Given the description of an element on the screen output the (x, y) to click on. 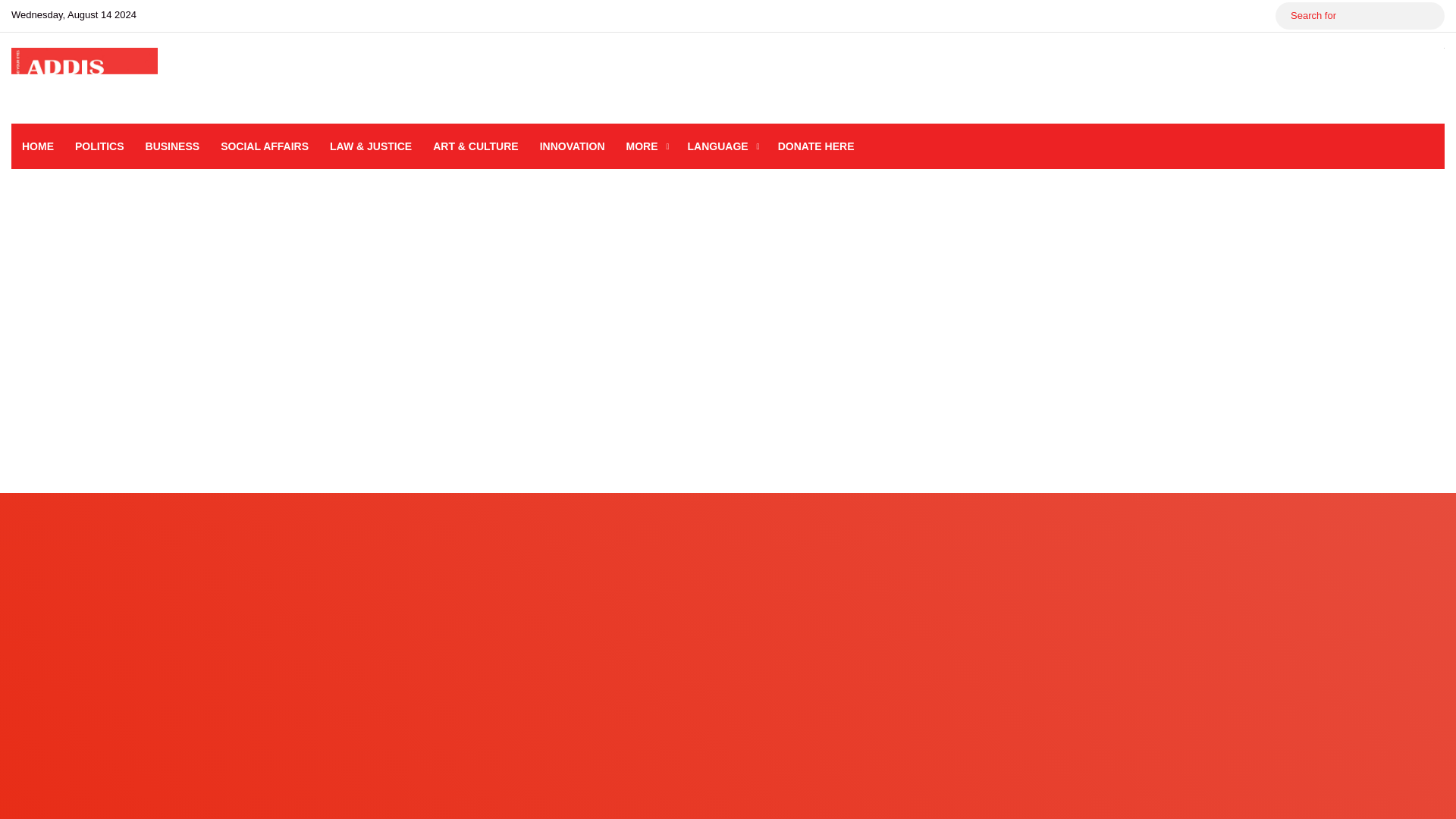
Search for (1359, 15)
POLITICS (99, 145)
SOCIAL AFFAIRS (263, 145)
HOME (37, 145)
BUSINESS (173, 145)
Addis Standard (84, 77)
Search for (1428, 15)
